Given the description of an element on the screen output the (x, y) to click on. 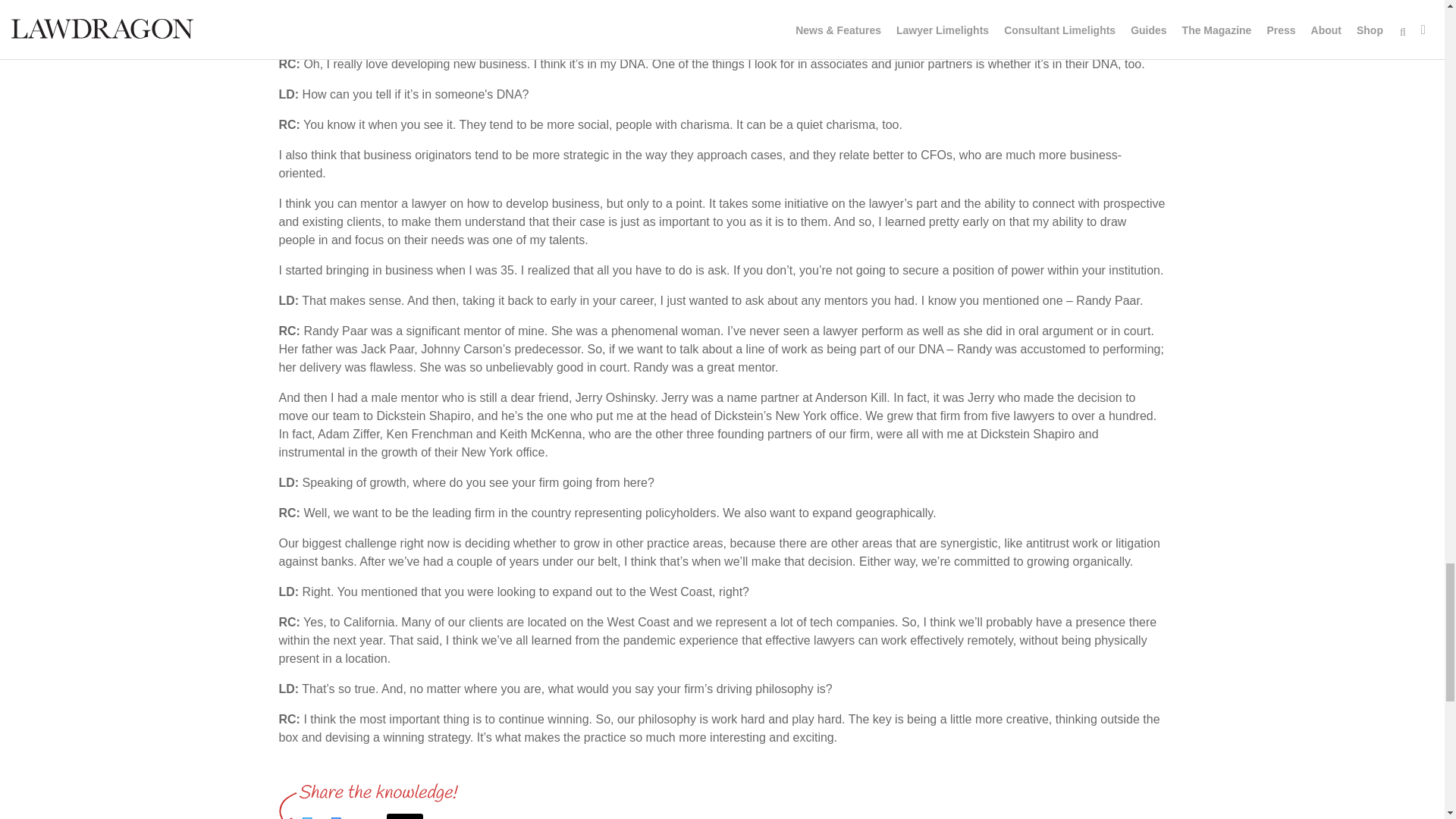
Email (405, 816)
